Given the description of an element on the screen output the (x, y) to click on. 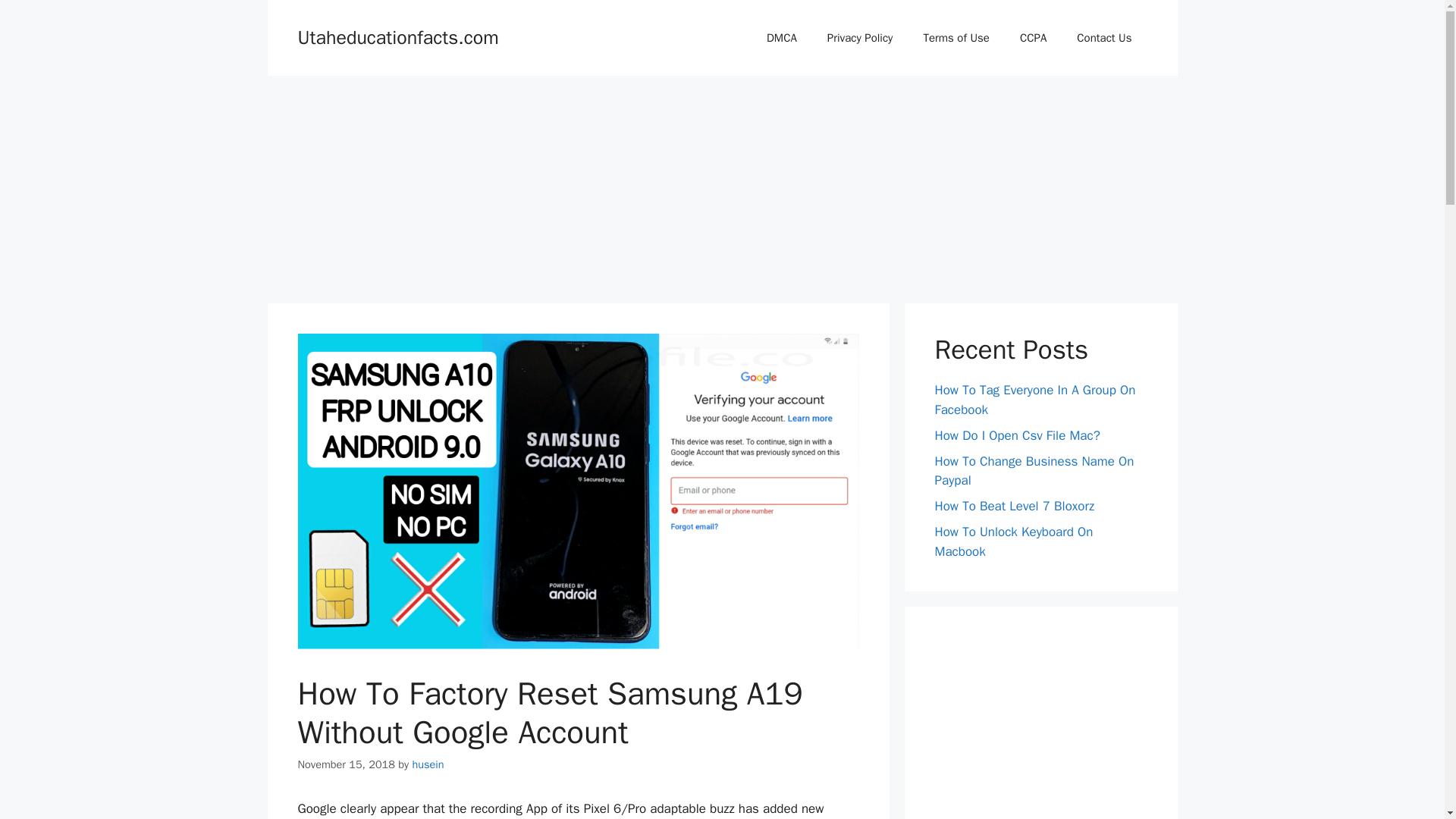
How To Change Business Name On Paypal (1034, 470)
Contact Us (1104, 37)
Utaheducationfacts.com (397, 37)
CCPA (1032, 37)
View all posts by husein (428, 764)
Terms of Use (955, 37)
How To Beat Level 7 Bloxorz (1014, 505)
How Do I Open Csv File Mac? (1016, 435)
husein (428, 764)
How To Unlock Keyboard On Macbook (1013, 541)
